Given the description of an element on the screen output the (x, y) to click on. 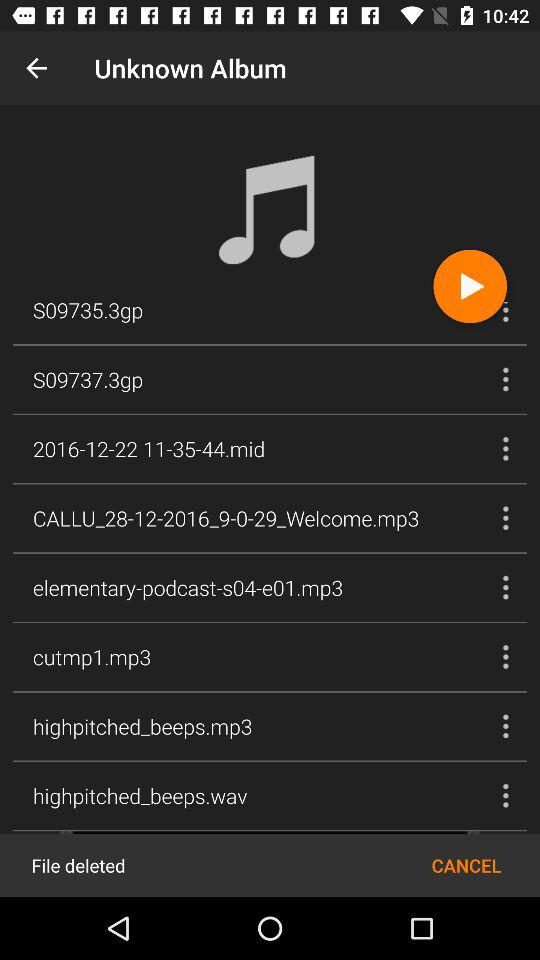
play sound clip (470, 286)
